Given the description of an element on the screen output the (x, y) to click on. 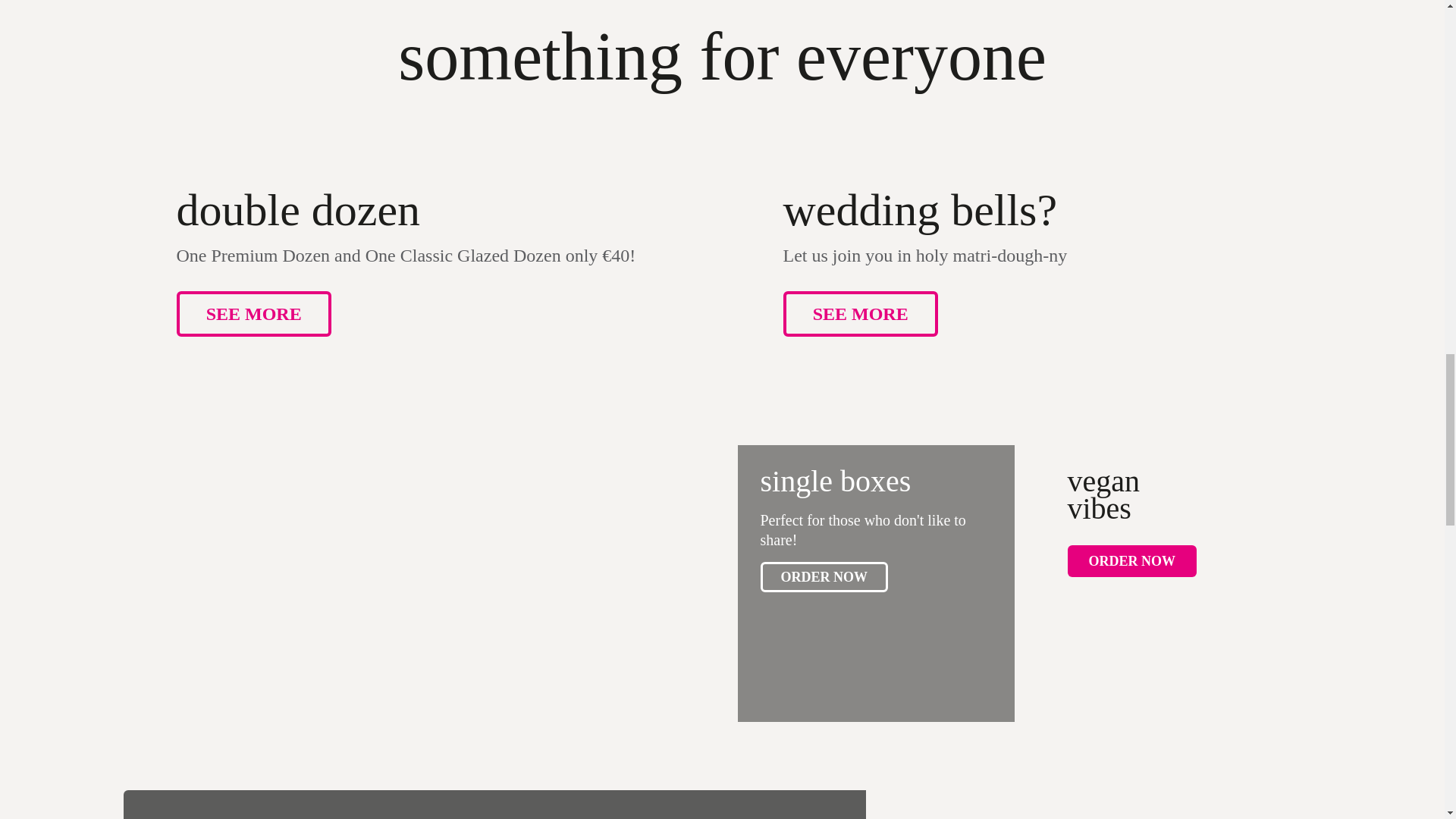
ORDER NOW (1131, 561)
SEE MORE (253, 313)
SEE MORE (860, 313)
ORDER NOW (824, 576)
